Given the description of an element on the screen output the (x, y) to click on. 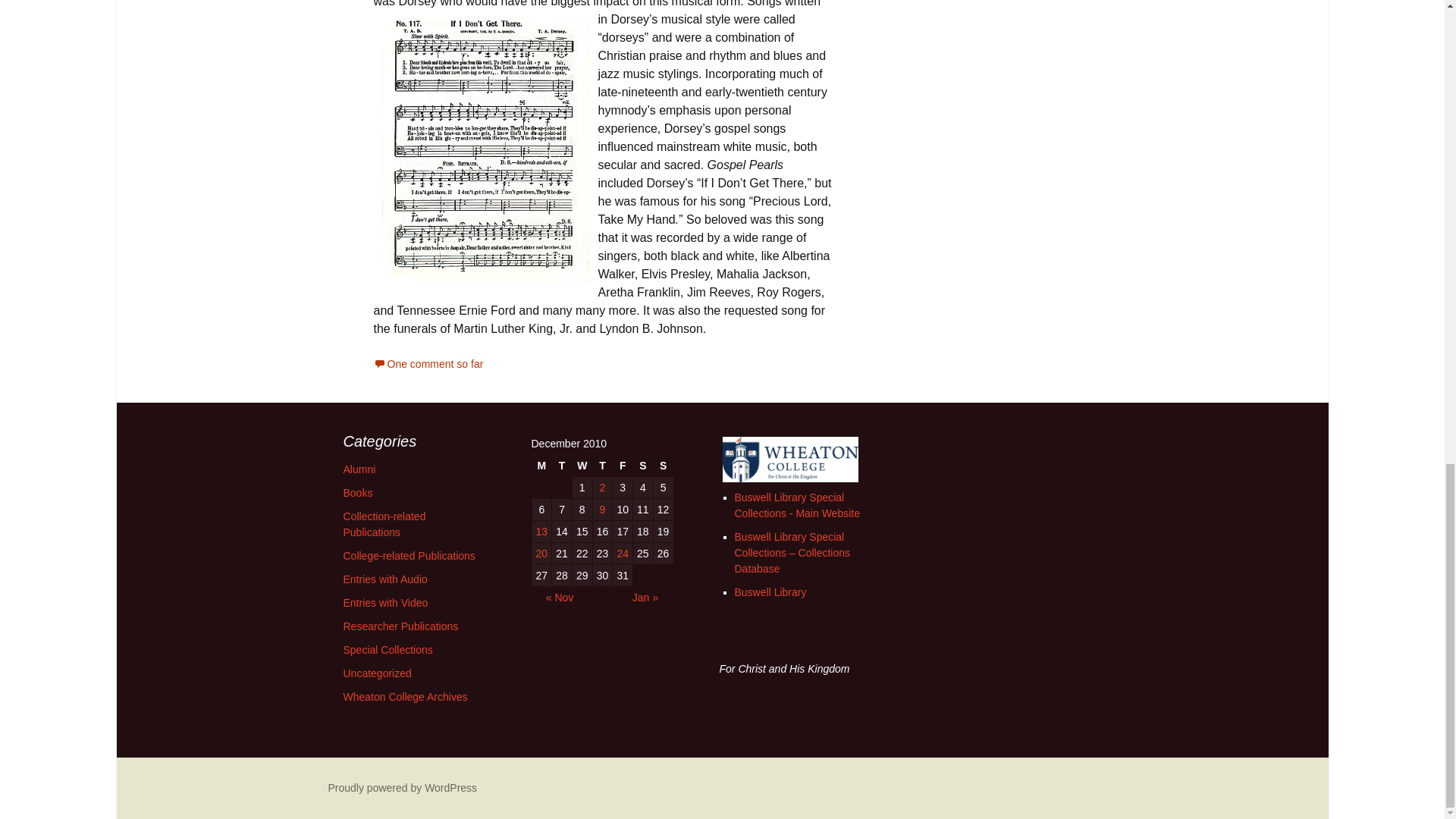
Buswell Library Special Collections (796, 505)
Researcher Publications (400, 625)
2 (602, 486)
20 (541, 553)
One comment so far (427, 363)
Entries with Audio (384, 579)
Tuesday (561, 465)
Sunday (662, 465)
Wednesday (582, 465)
Wheaton College Archives (404, 696)
Alumni (358, 469)
Monday (541, 465)
Saturday (642, 465)
College-related Publications (408, 555)
13 (541, 531)
